Given the description of an element on the screen output the (x, y) to click on. 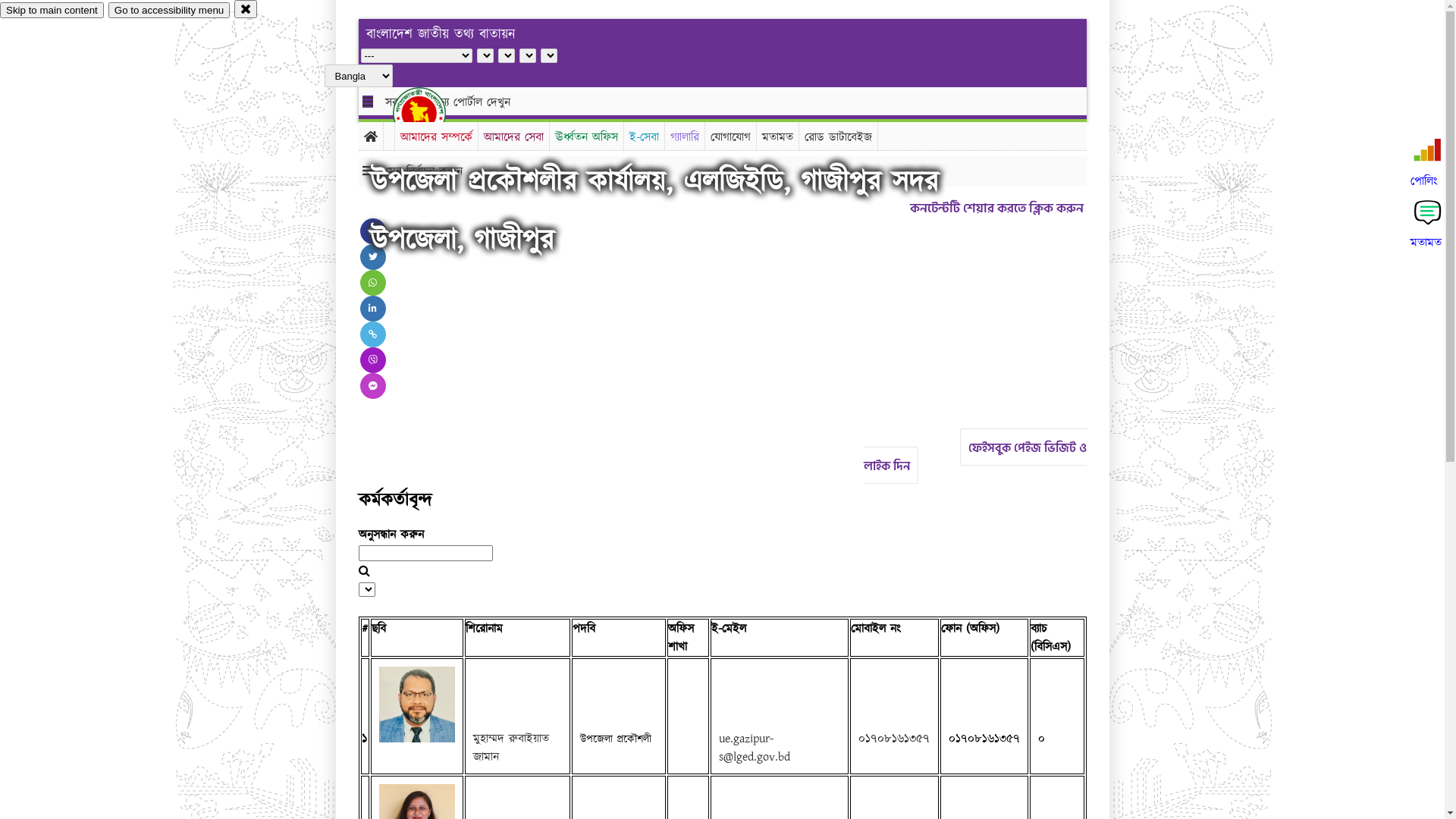

                
             Element type: hover (431, 112)
Go to accessibility menu Element type: text (168, 10)
close Element type: hover (245, 9)
Skip to main content Element type: text (51, 10)
ue.gazipur-s@lged.gov.bd Element type: text (754, 747)
